Given the description of an element on the screen output the (x, y) to click on. 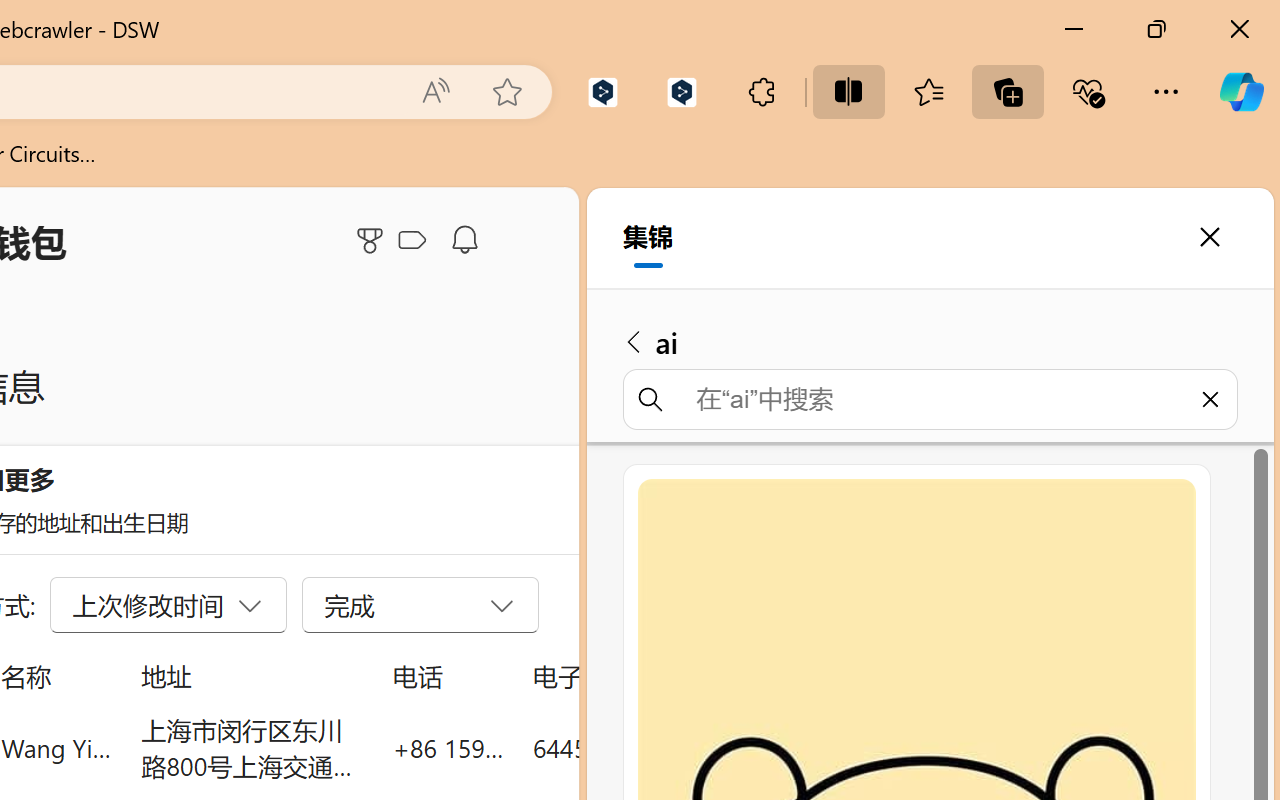
644553698@qq.com (644, 747)
Copilot (Ctrl+Shift+.) (1241, 91)
